Given the description of an element on the screen output the (x, y) to click on. 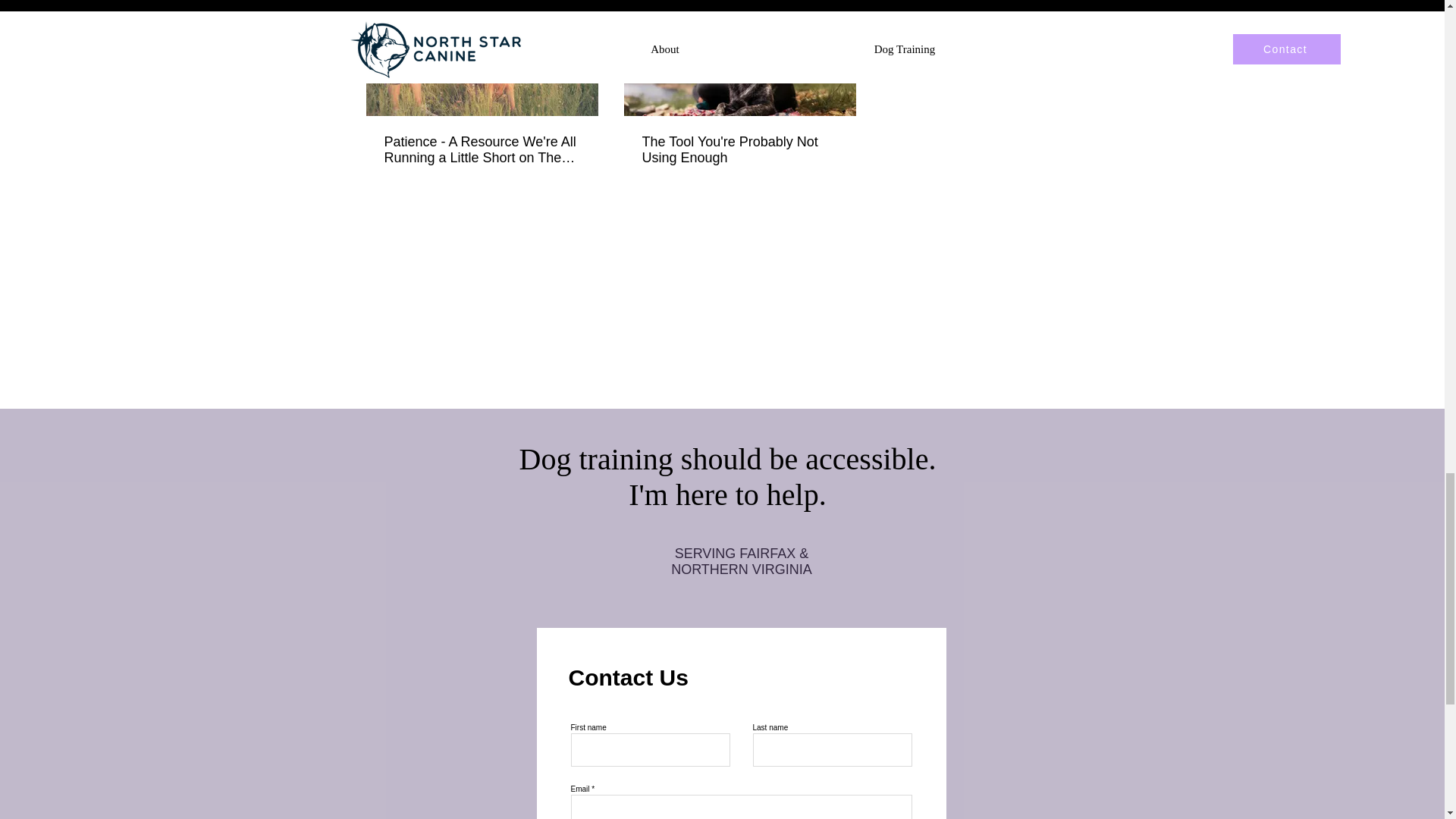
The Tool You're Probably Not Using Enough (739, 150)
